Given the description of an element on the screen output the (x, y) to click on. 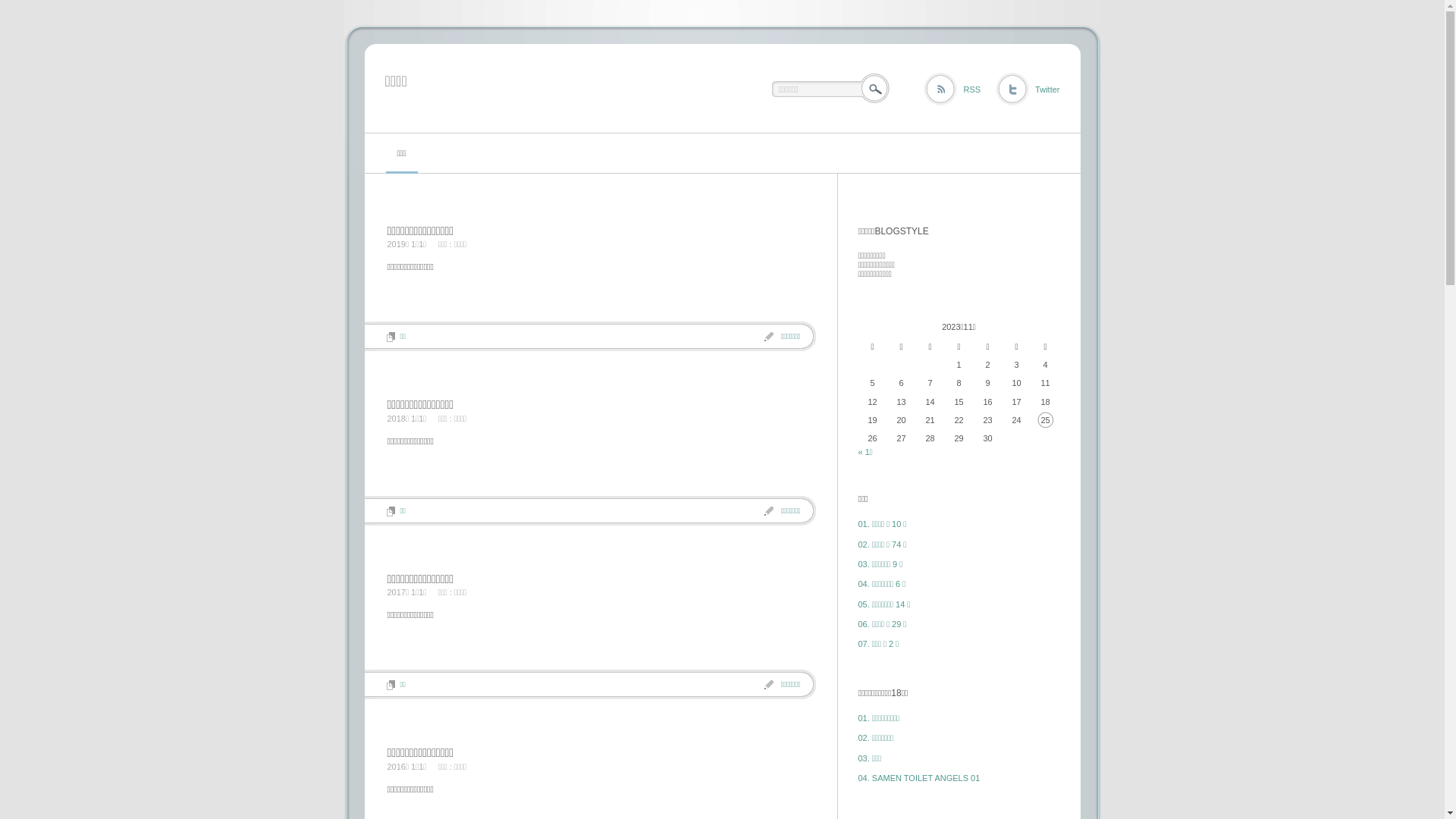
04. SAMEN TOILET ANGELS 01 Element type: text (919, 777)
RSS Element type: text (951, 88)
Twitter Element type: text (1027, 88)
